Given the description of an element on the screen output the (x, y) to click on. 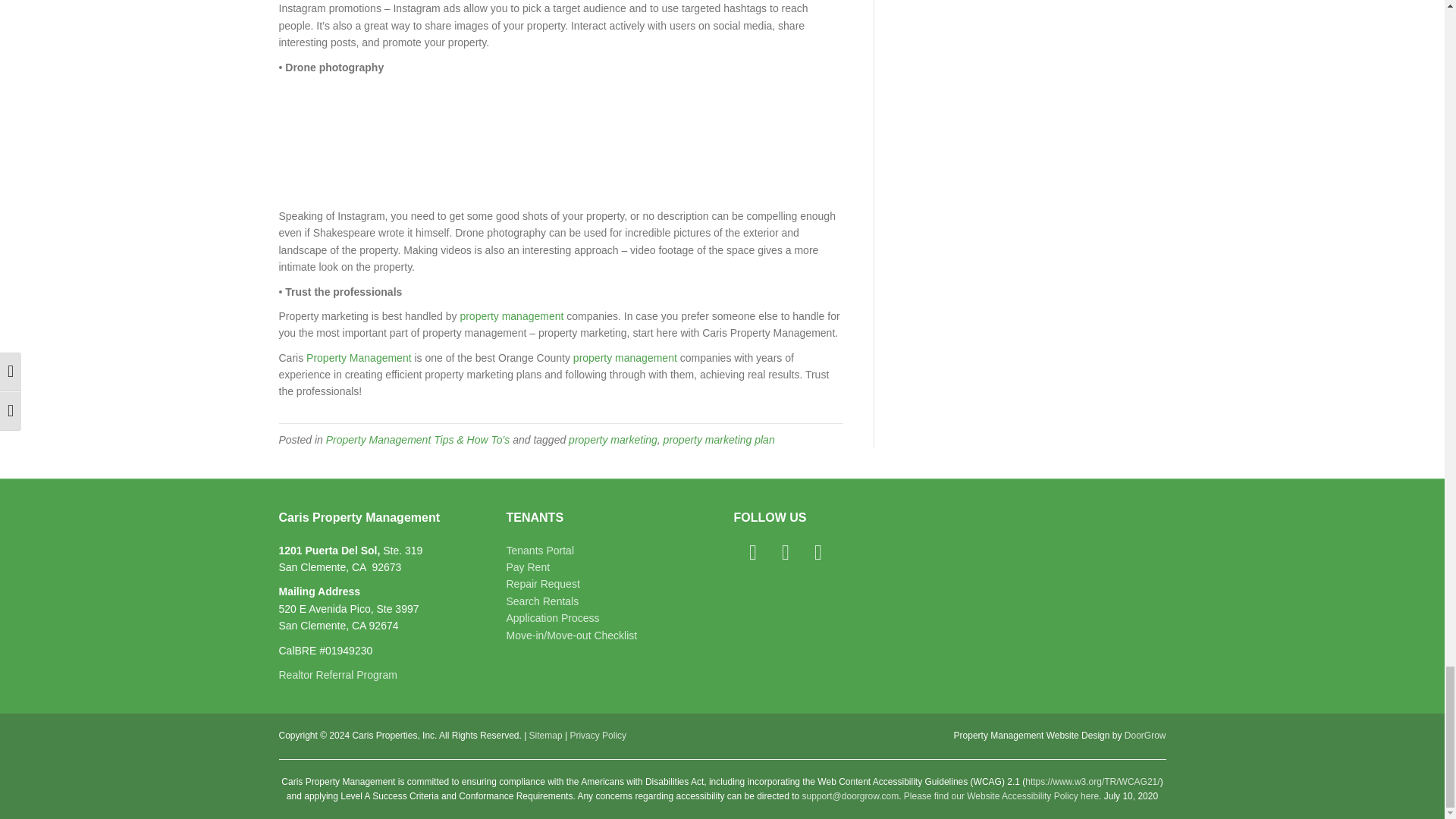
property marketing (613, 439)
property management (511, 316)
property management (625, 357)
Property Management (358, 357)
